Given the description of an element on the screen output the (x, y) to click on. 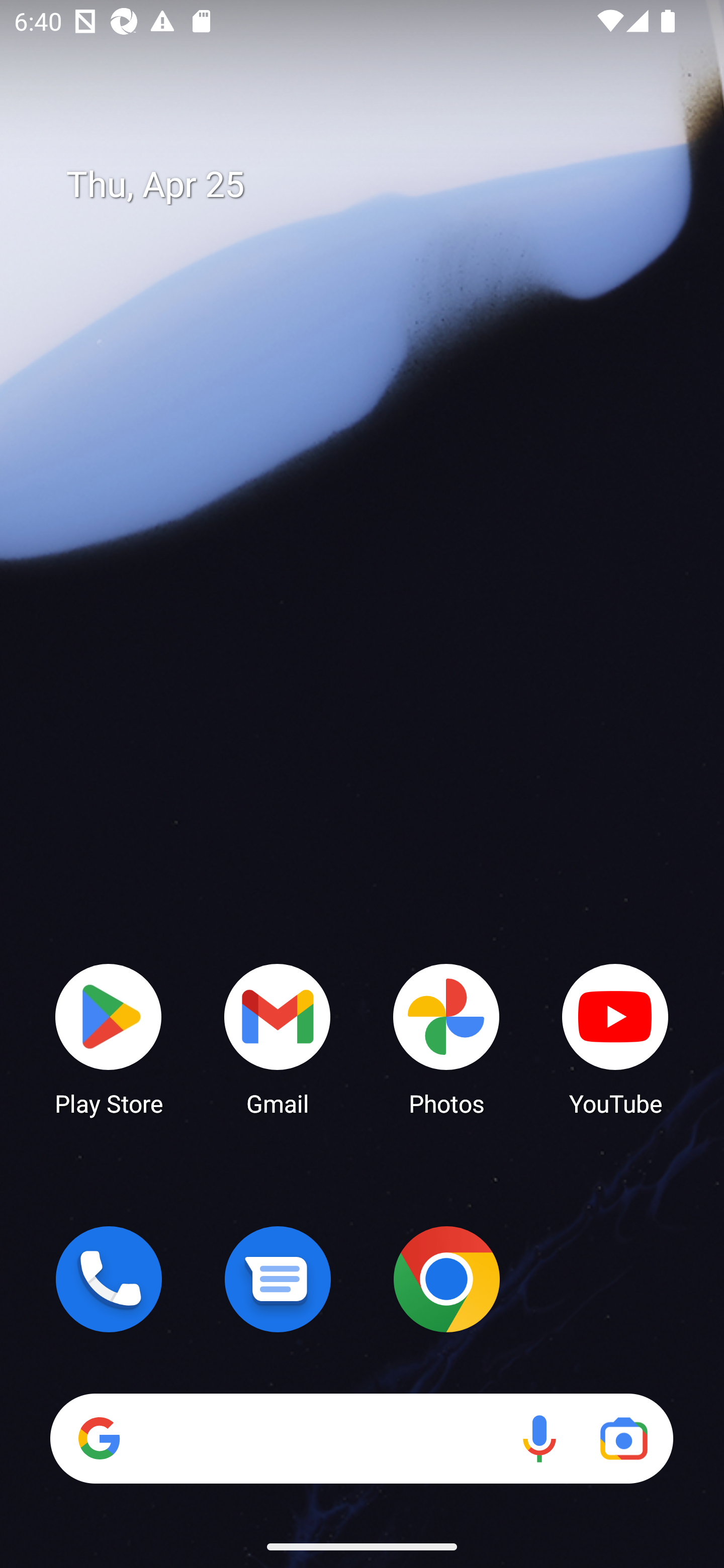
Thu, Apr 25 (375, 184)
Play Store (108, 1038)
Gmail (277, 1038)
Photos (445, 1038)
YouTube (615, 1038)
Phone (108, 1279)
Messages (277, 1279)
Chrome (446, 1279)
Search Voice search Google Lens (361, 1438)
Voice search (539, 1438)
Google Lens (623, 1438)
